Given the description of an element on the screen output the (x, y) to click on. 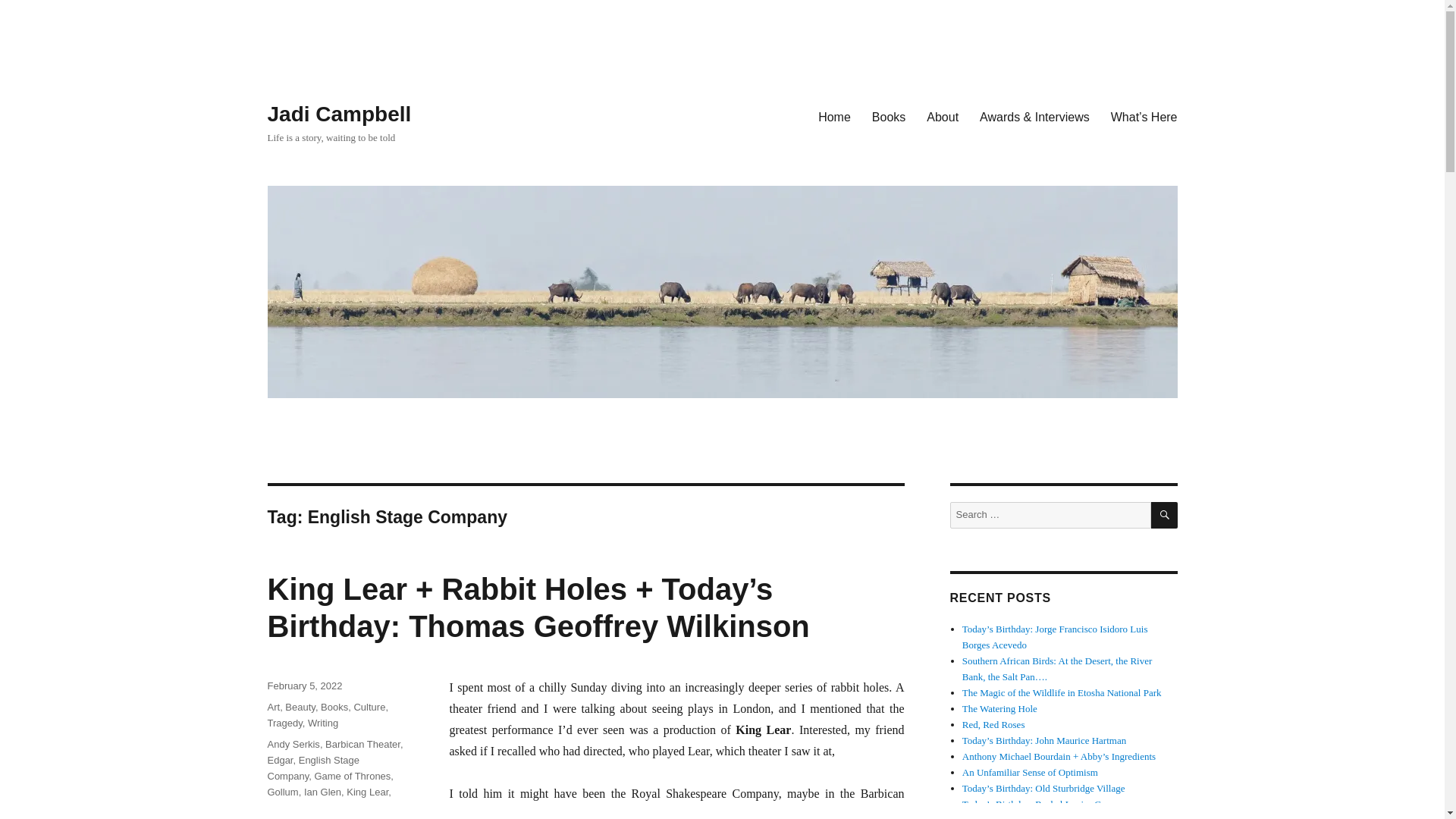
About (942, 116)
Royal Court Theater (310, 808)
Edgar (279, 759)
Culture (369, 706)
Writing (322, 722)
Game of Thrones (352, 776)
Ian Glen (322, 791)
Jadi Campbell (338, 114)
February 5, 2022 (304, 685)
Books (888, 116)
